Given the description of an element on the screen output the (x, y) to click on. 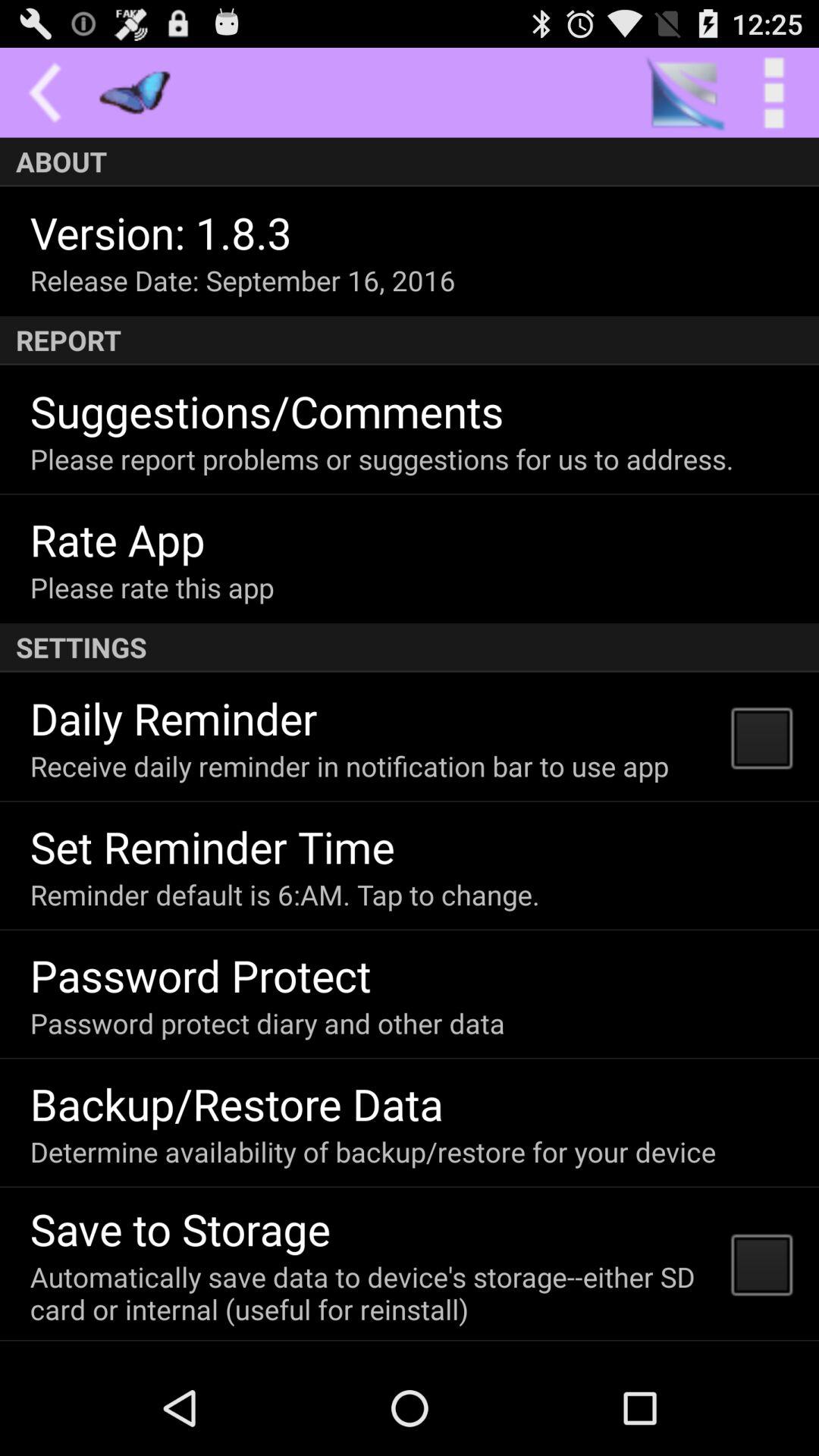
select item above the reminder default is app (212, 846)
